Given the description of an element on the screen output the (x, y) to click on. 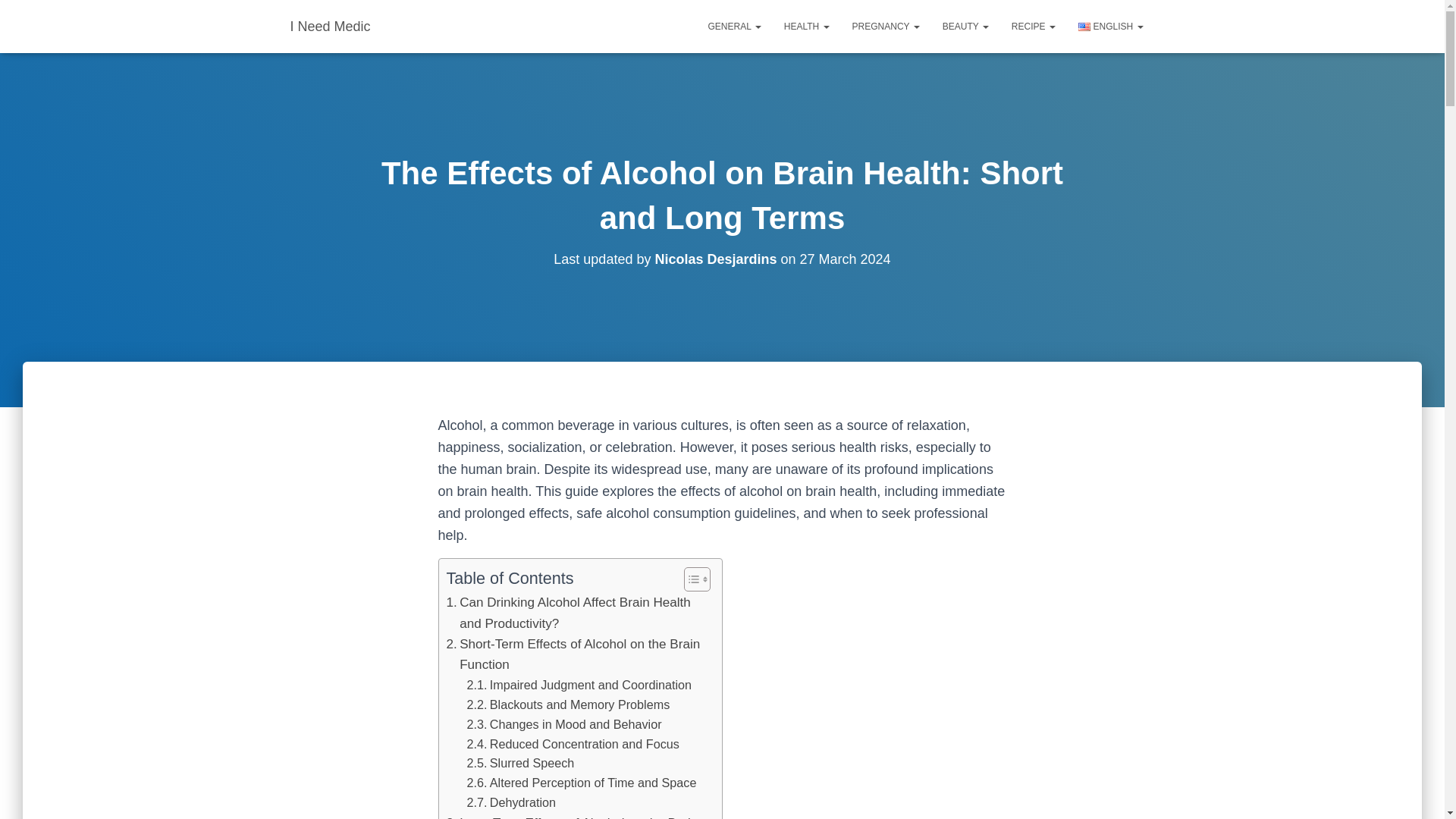
I Need Medic (330, 26)
ENGLISH (1110, 26)
Impaired Judgment and Coordination (580, 685)
Nicolas Desjardins (714, 258)
Health (807, 26)
BEAUTY (965, 26)
Reduced Concentration and Focus (573, 743)
I Need Medic (330, 26)
GENERAL (735, 26)
Recipe (1033, 26)
